Given the description of an element on the screen output the (x, y) to click on. 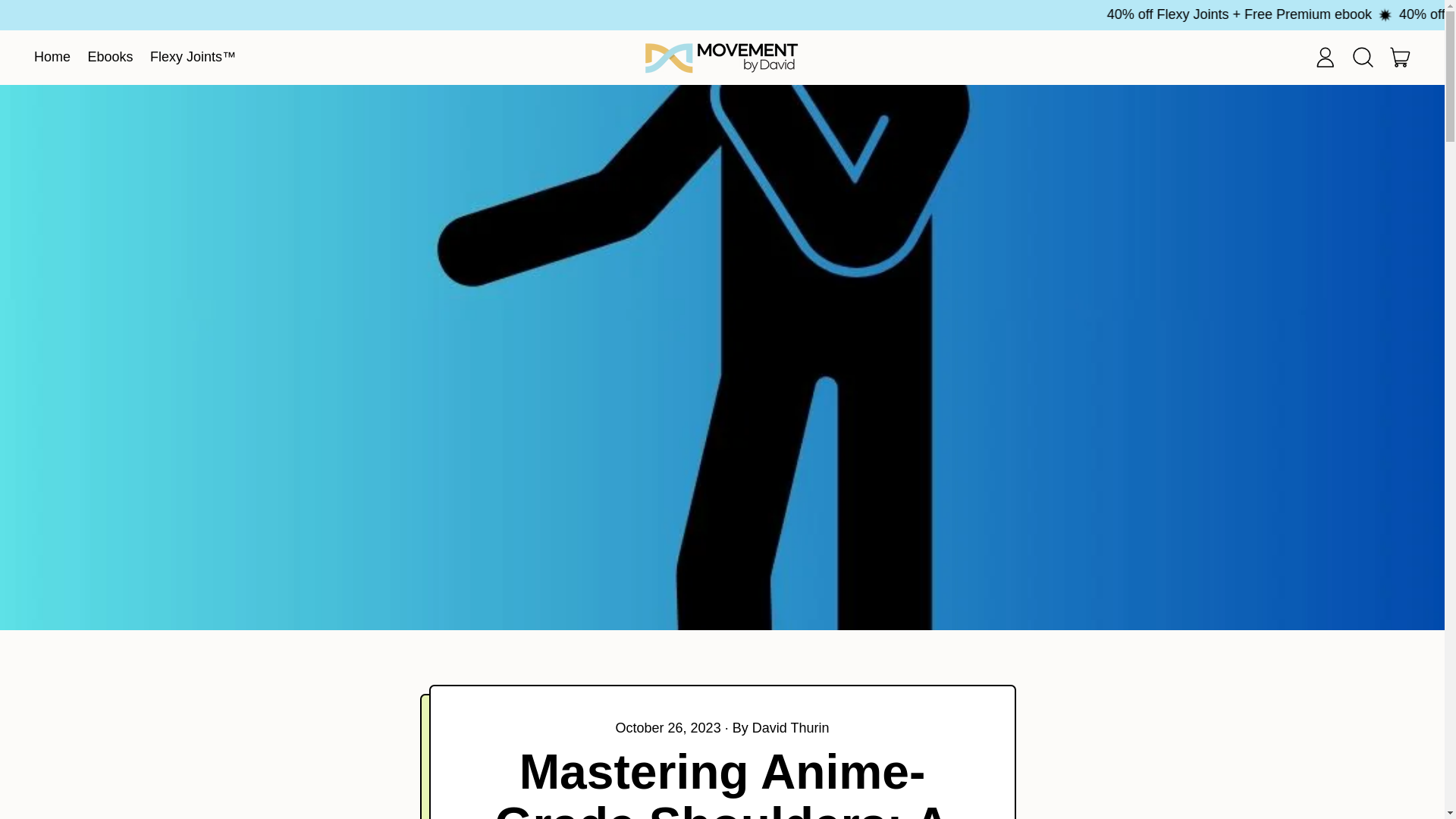
Search our site (1362, 57)
Log in (1324, 57)
Ebooks (109, 56)
Home (53, 56)
